Given the description of an element on the screen output the (x, y) to click on. 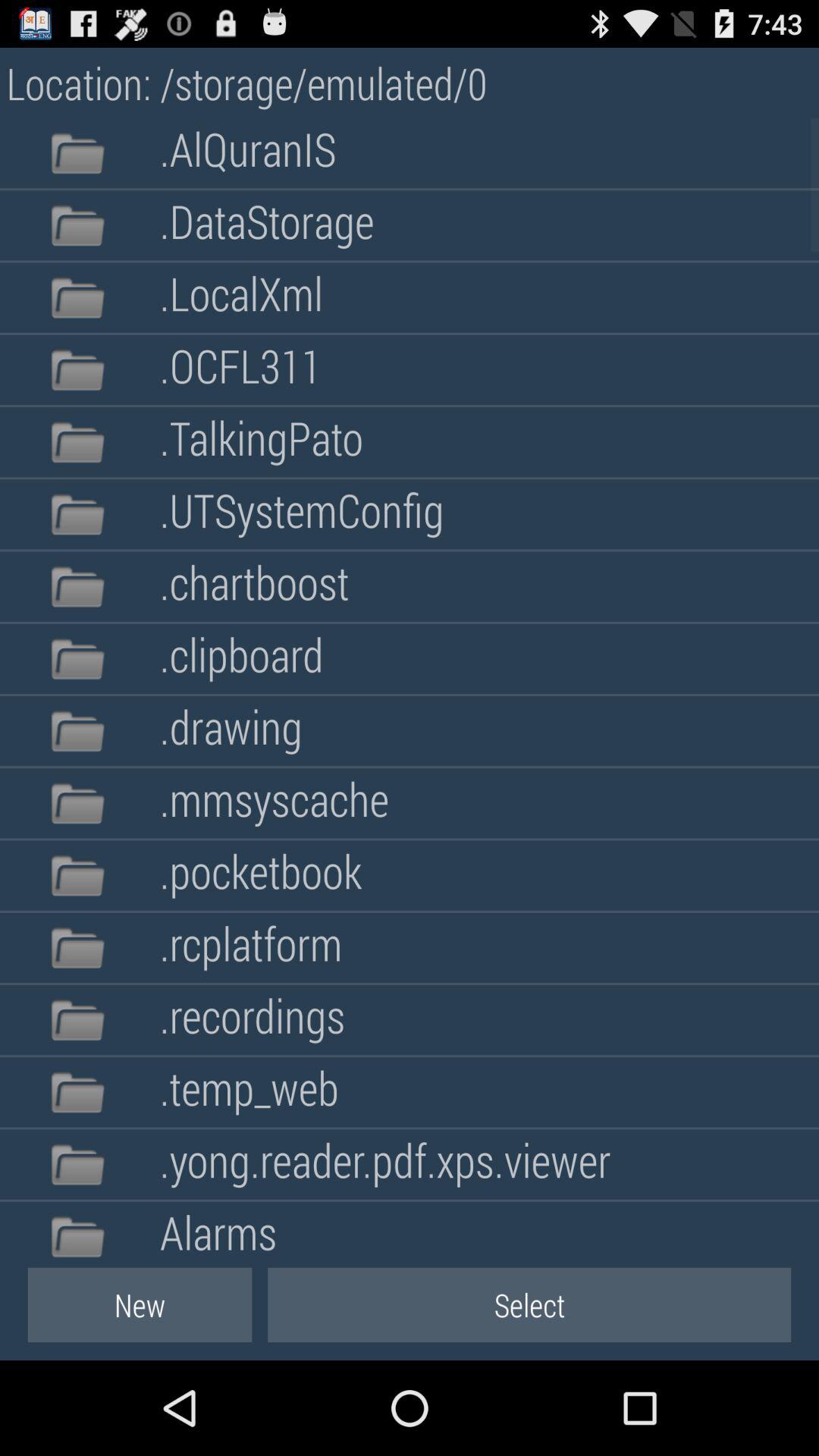
swipe to .alquranis item (247, 153)
